Given the description of an element on the screen output the (x, y) to click on. 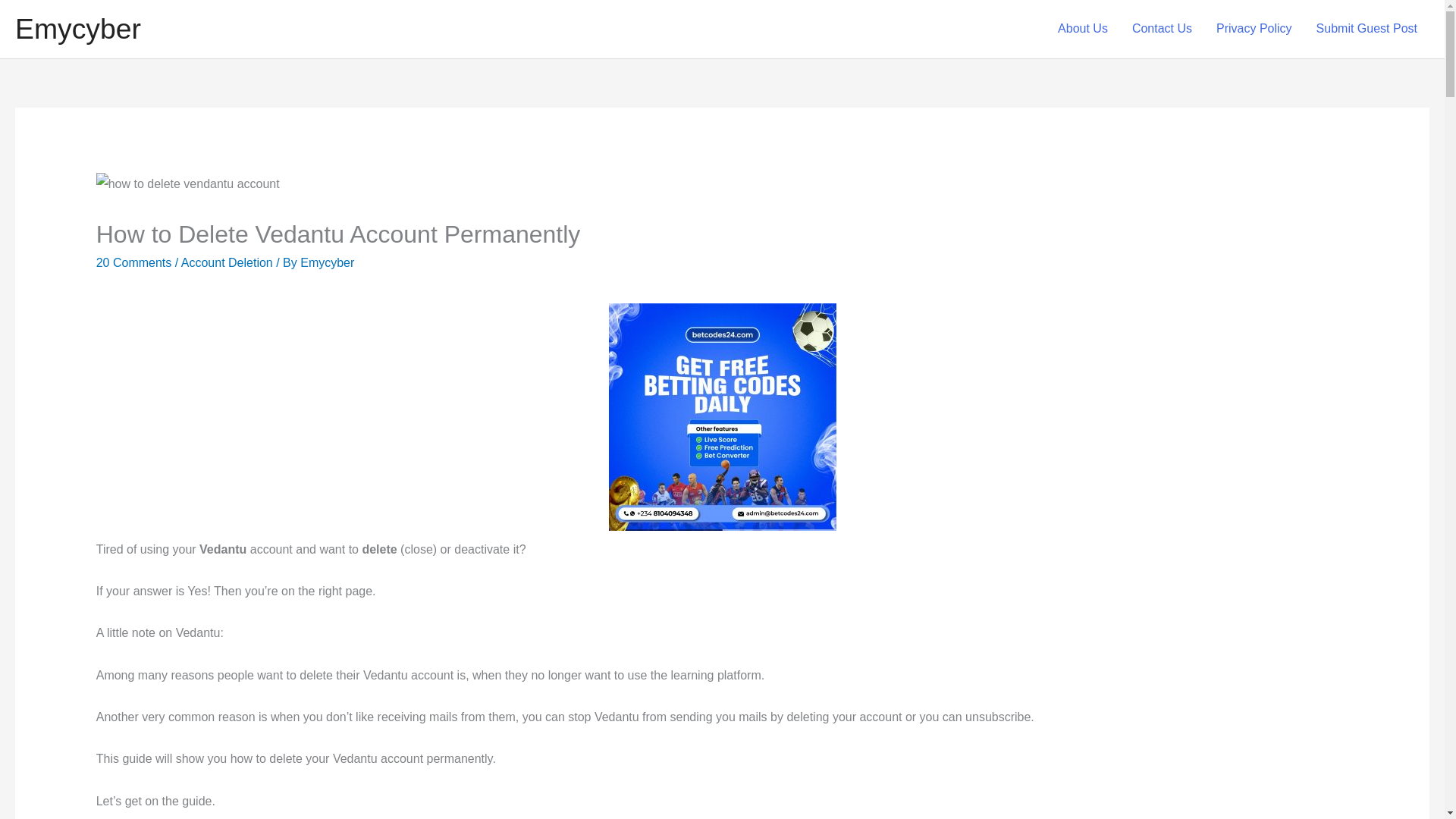
Account Deletion (226, 262)
View all posts by Emycyber (326, 262)
About Us (1082, 28)
20 Comments (133, 262)
Submit Guest Post (1366, 28)
Contact Us (1161, 28)
Privacy Policy (1254, 28)
Emycyber (326, 262)
Emycyber (77, 29)
